Given the description of an element on the screen output the (x, y) to click on. 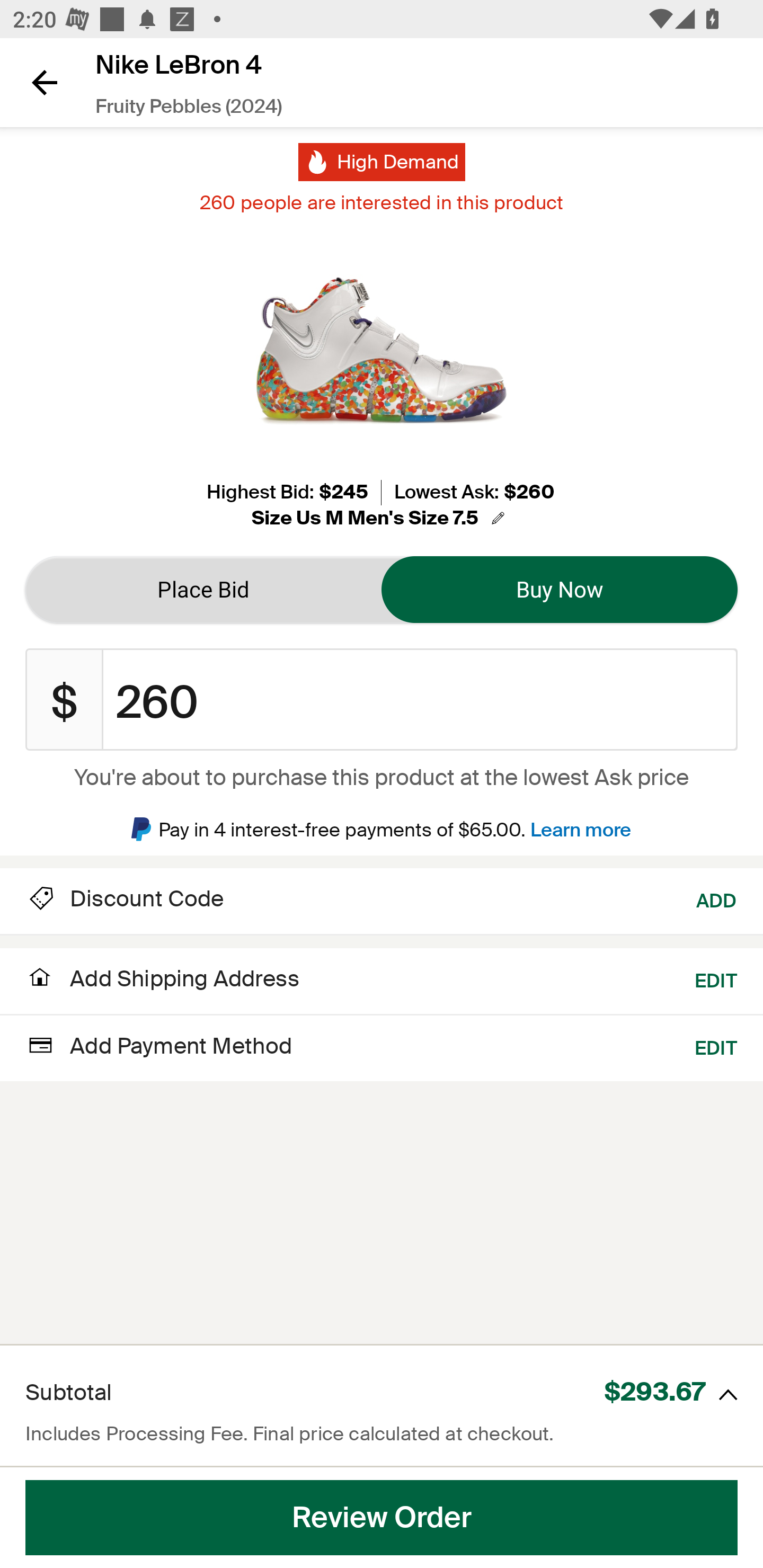
Navigate up (44, 82)
Sneaker Image (381, 350)
Size Us M Men's Size 7.5 An image (380, 517)
260 (420, 700)
Add Discount Code Discount Code (124, 899)
ADD (717, 899)
Edit Payment Icon Add Shipping Address (162, 983)
EDIT (716, 978)
Edit Payment Icon Add Payment Method (158, 1045)
EDIT (716, 1045)
Review Order (381, 1517)
